Given the description of an element on the screen output the (x, y) to click on. 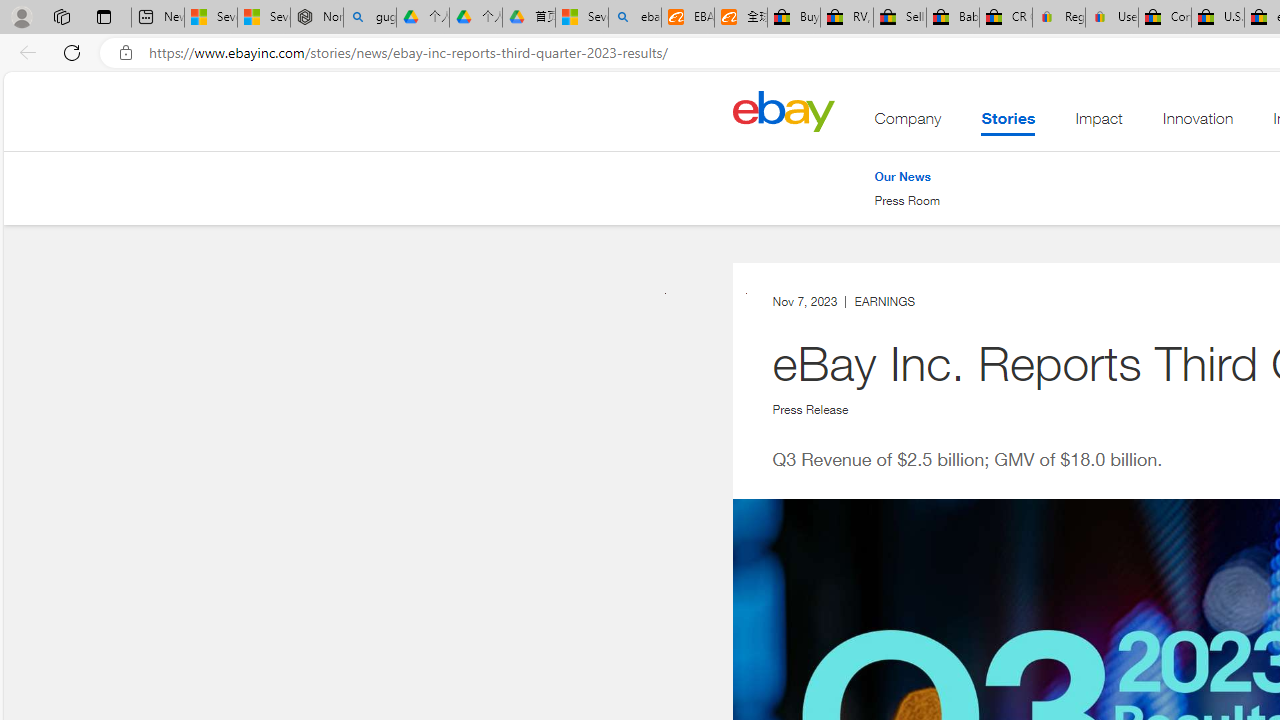
Impact (1098, 123)
U.S. State Privacy Disclosures - eBay Inc. (1217, 17)
Our News (902, 176)
Consumer Health Data Privacy Policy - eBay Inc. (1165, 17)
Press Room (907, 201)
User Privacy Notice | eBay (1111, 17)
guge yunpan - Search (369, 17)
Register: Create a personal eBay account (1059, 17)
